Given the description of an element on the screen output the (x, y) to click on. 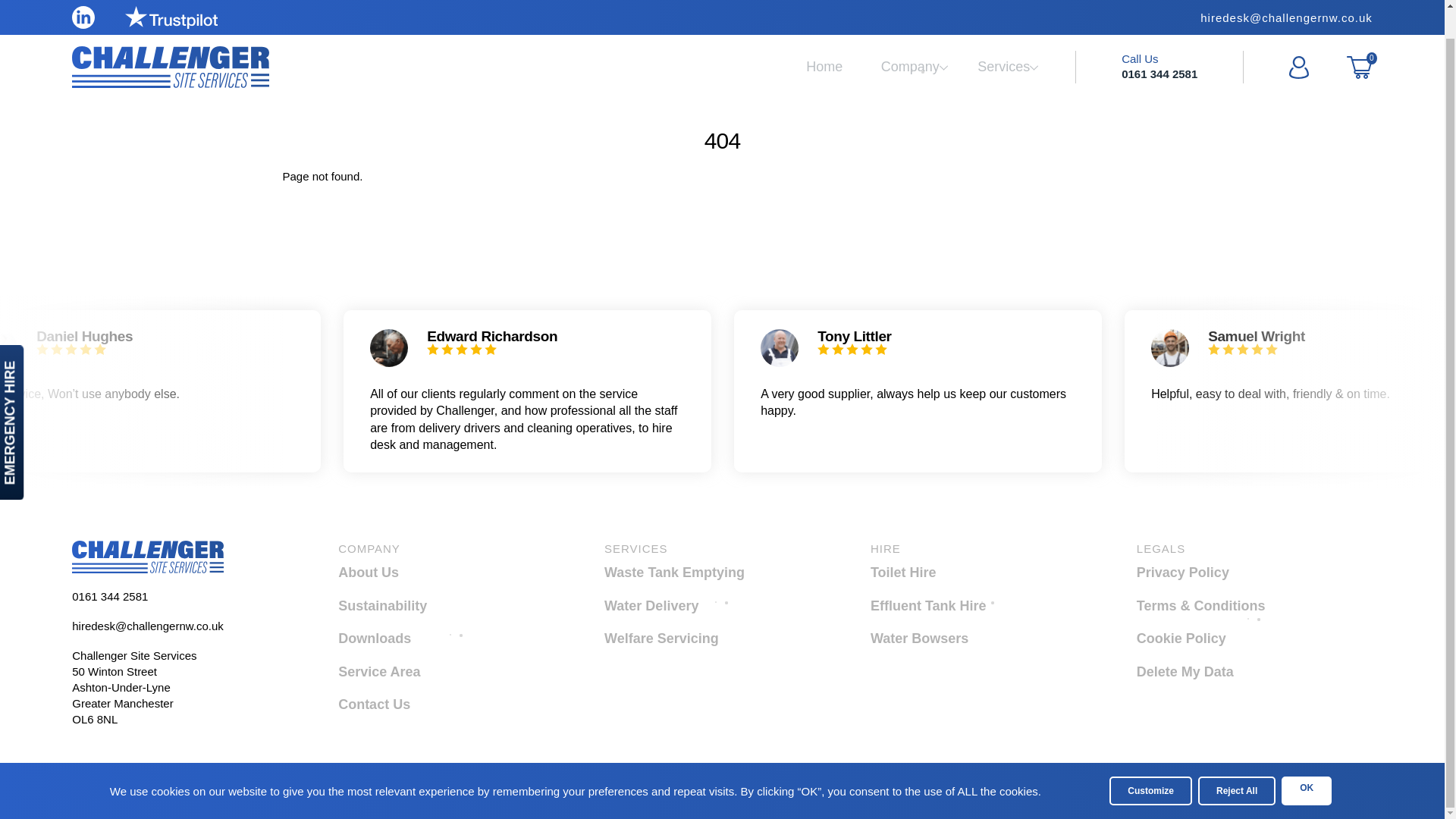
Company (703, 605)
Challenger Site Services (909, 38)
Home (147, 556)
Services (824, 38)
Challenger Site Services (1003, 38)
LinkedIn (170, 37)
EMERGENCY HIRE (436, 638)
